Given the description of an element on the screen output the (x, y) to click on. 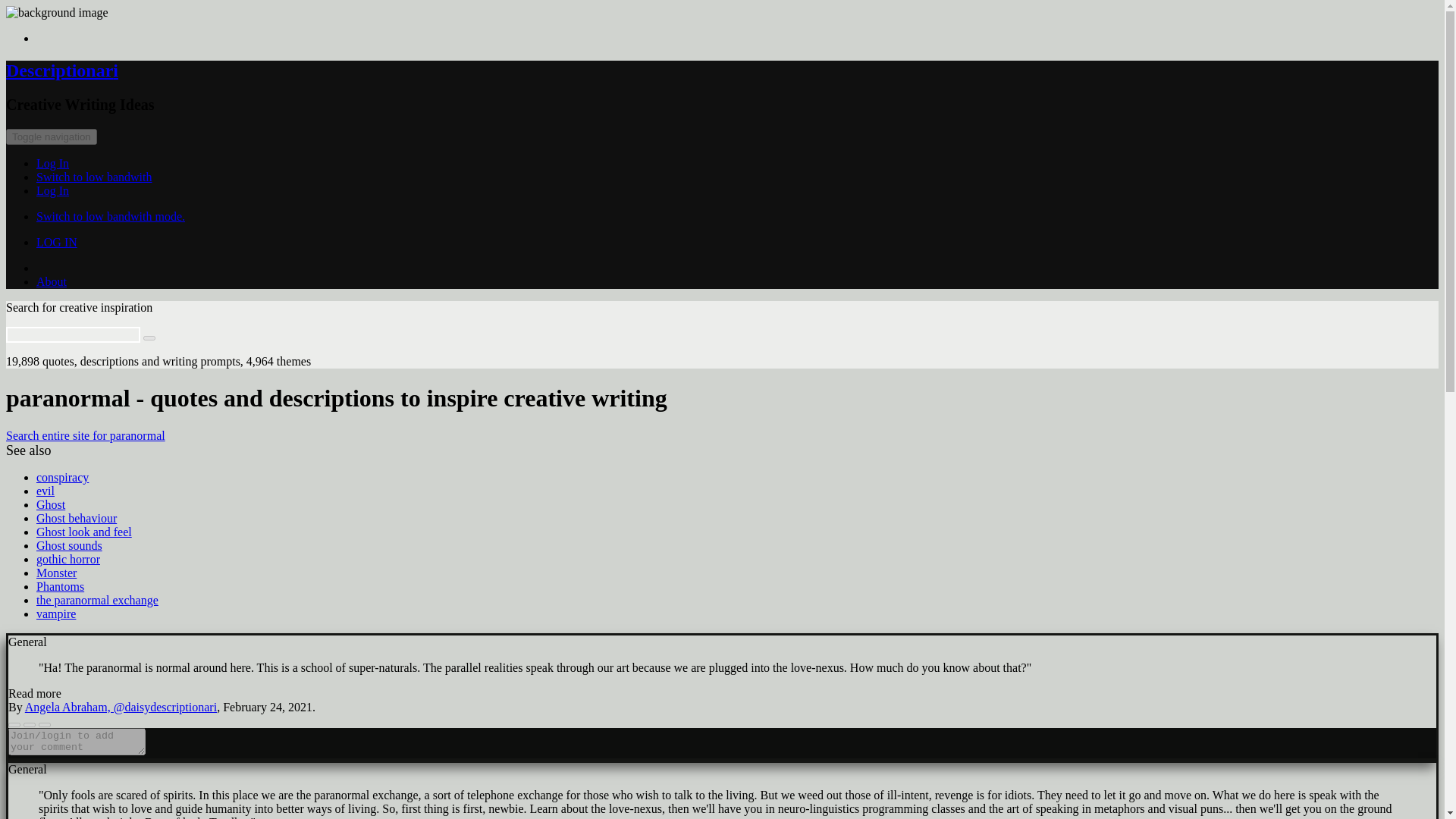
Search (148, 337)
Describe 'the paranormal exchange' (97, 599)
Log in (52, 163)
Ghost look and feel (84, 531)
conspiracy (62, 477)
Describe 'evil' (45, 490)
Search entire site for paranormal (85, 435)
gothic horror (68, 558)
Read more (34, 693)
Log in (52, 190)
Describe 'gothic horror' (68, 558)
evil (45, 490)
Phantoms (60, 585)
Describe 'Ghost sounds' (68, 545)
Descriptionari (61, 70)
